Given the description of an element on the screen output the (x, y) to click on. 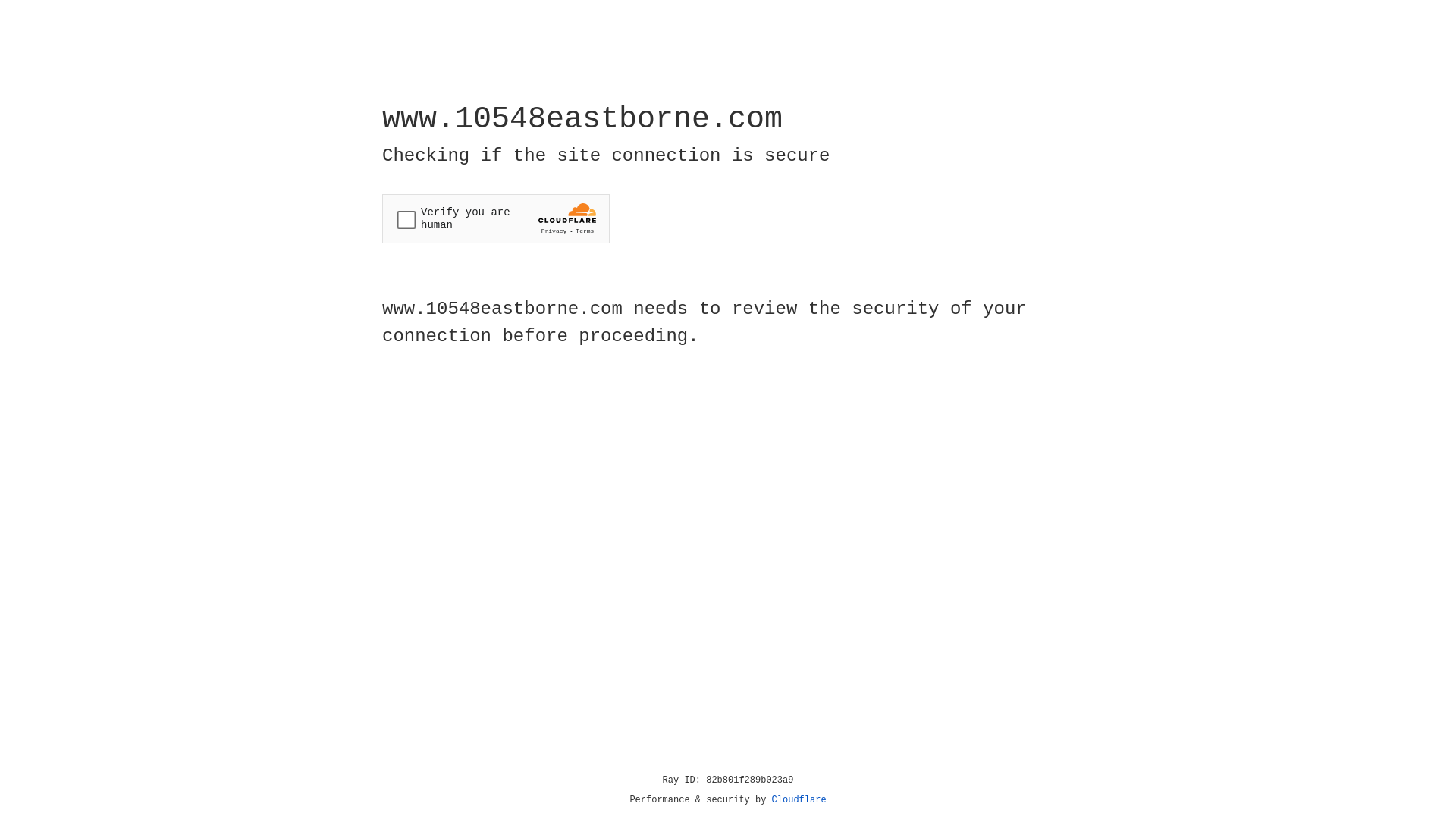
Widget containing a Cloudflare security challenge Element type: hover (495, 218)
Cloudflare Element type: text (798, 799)
